Given the description of an element on the screen output the (x, y) to click on. 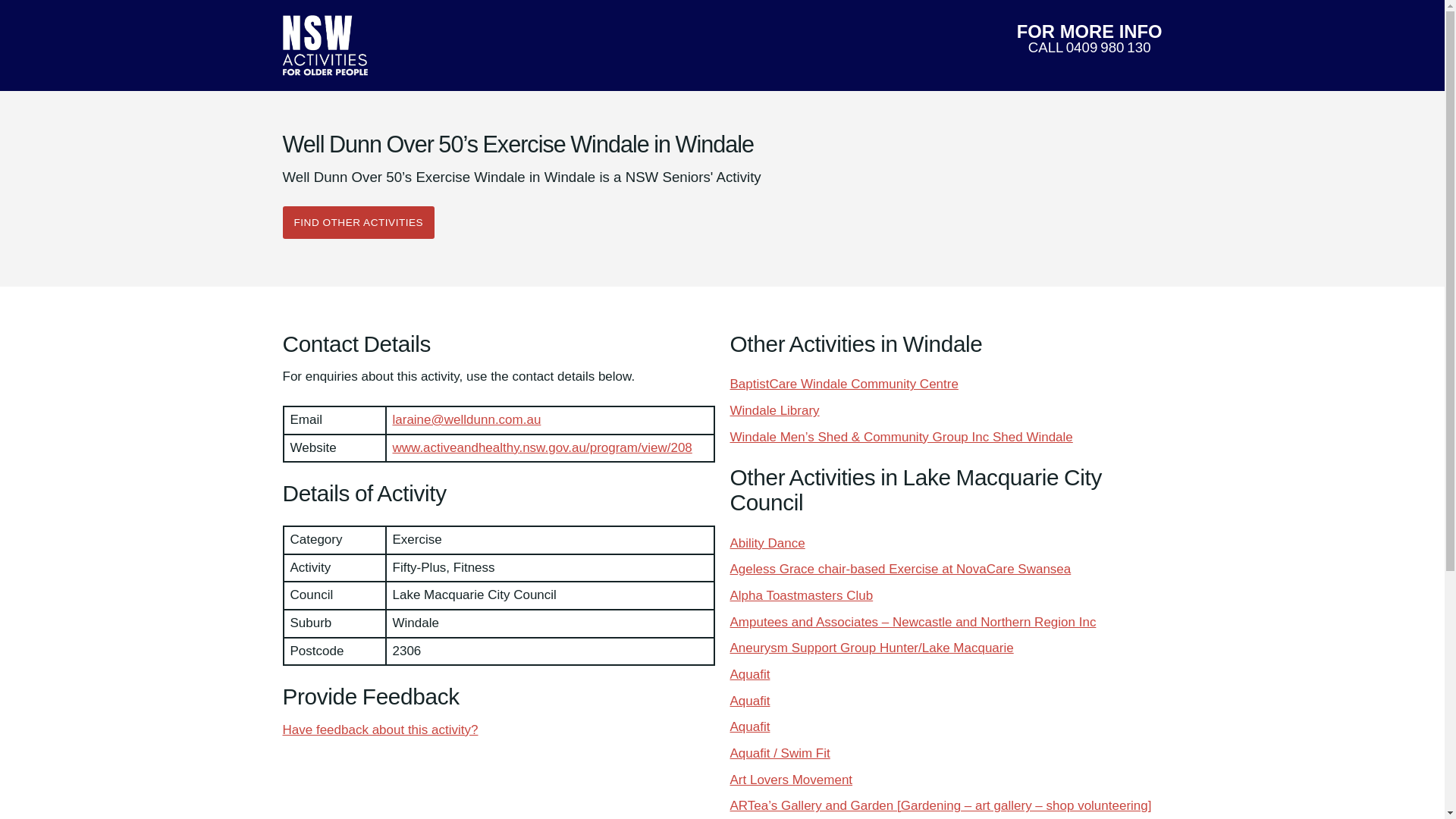
Alpha Toastmasters Club (800, 595)
Windale Library (773, 410)
Aquafit (1088, 38)
Art Lovers Movement (749, 674)
BaptistCare Windale Community Centre (790, 780)
Ability Dance (843, 383)
Aquafit (767, 543)
FIND OTHER ACTIVITIES (749, 726)
Ageless Grace chair-based Exercise at NovaCare Swansea (357, 222)
Have feedback about this activity? (899, 568)
Aquafit (379, 729)
